Given the description of an element on the screen output the (x, y) to click on. 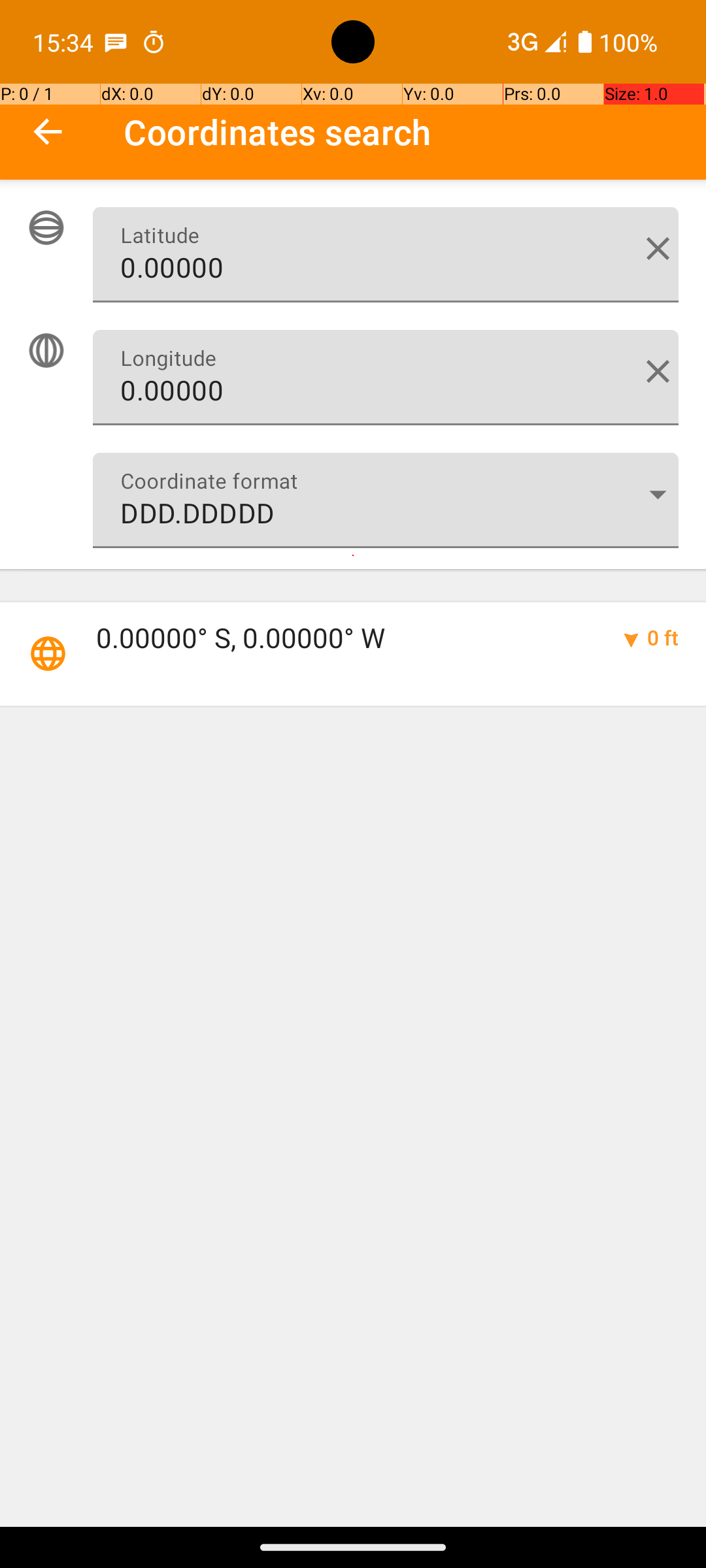
Coordinates search Element type: android.widget.TextView (414, 131)
0.00000 Element type: android.widget.EditText (385, 254)
DDD.DDDDD Element type: android.widget.EditText (385, 500)
Coordinate format Element type: android.widget.ImageButton (657, 493)
0.00000° S, 0.00000° W Element type: android.widget.TextView (344, 636)
0 ft Element type: android.widget.TextView (662, 637)
